Given the description of an element on the screen output the (x, y) to click on. 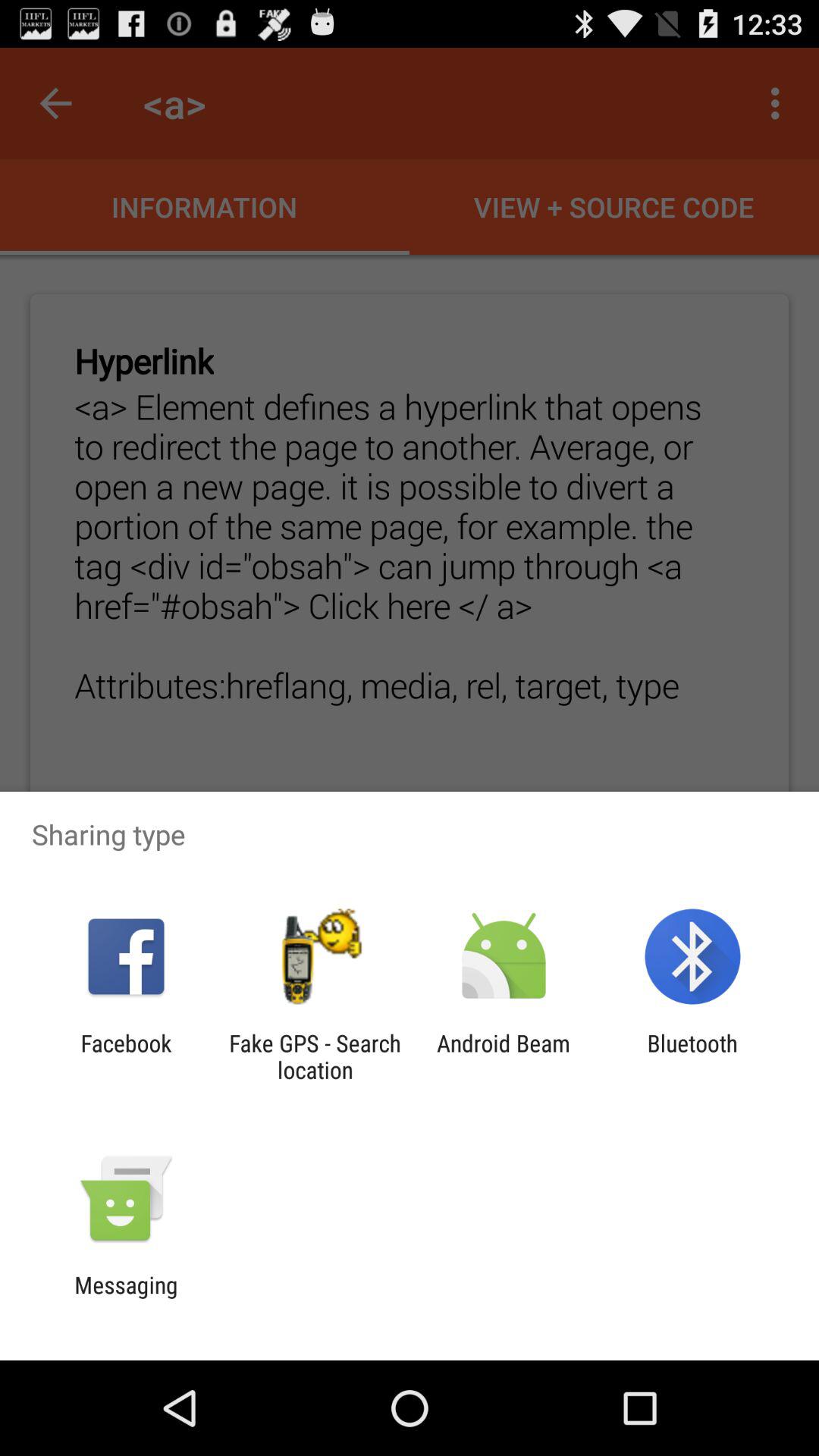
select app next to fake gps search (125, 1056)
